Given the description of an element on the screen output the (x, y) to click on. 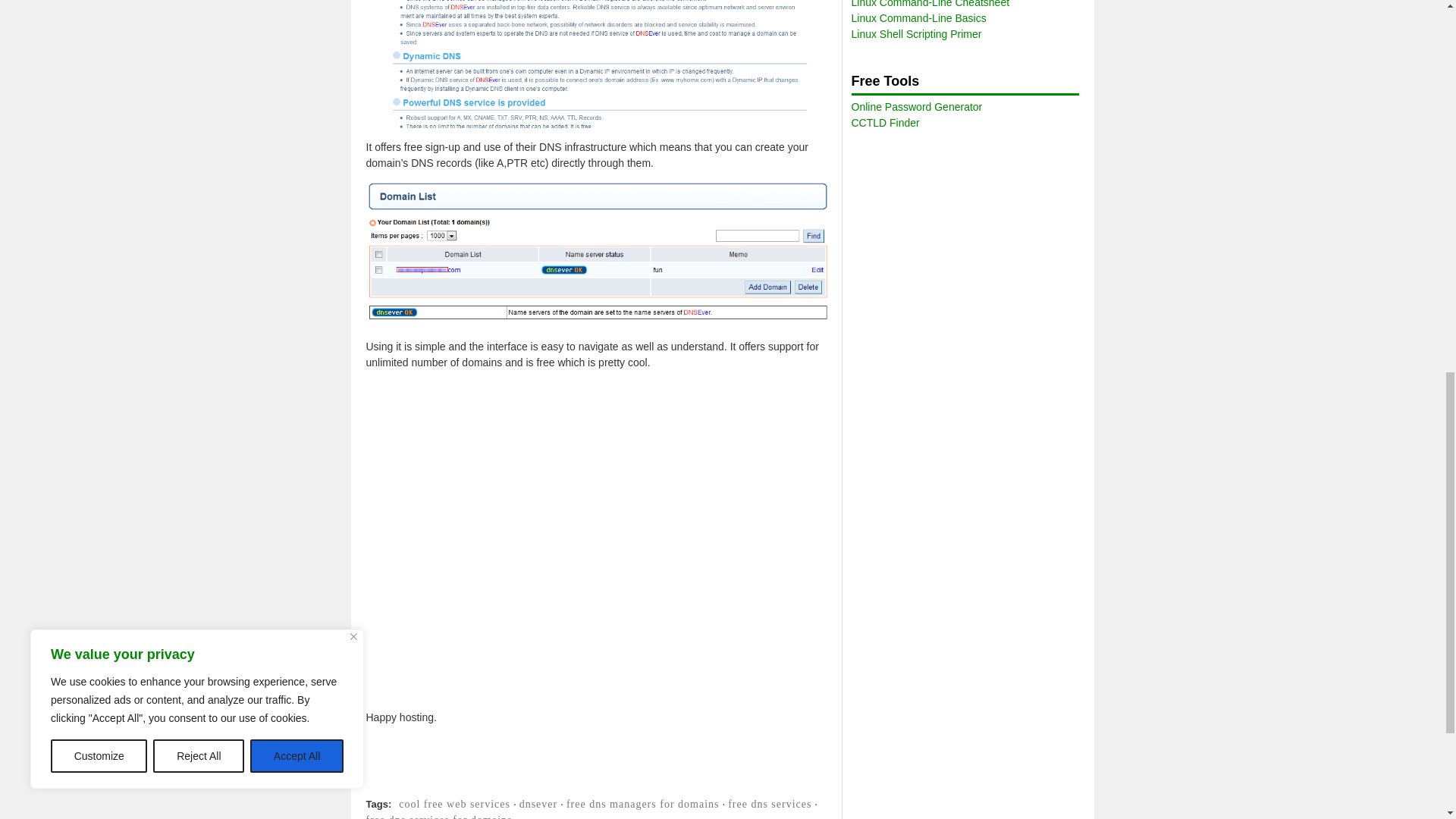
dnsever0 (599, 63)
Facebook Share (721, 788)
dnsever1 (598, 253)
Tweet (954, 788)
Pin Share (1189, 788)
